Given the description of an element on the screen output the (x, y) to click on. 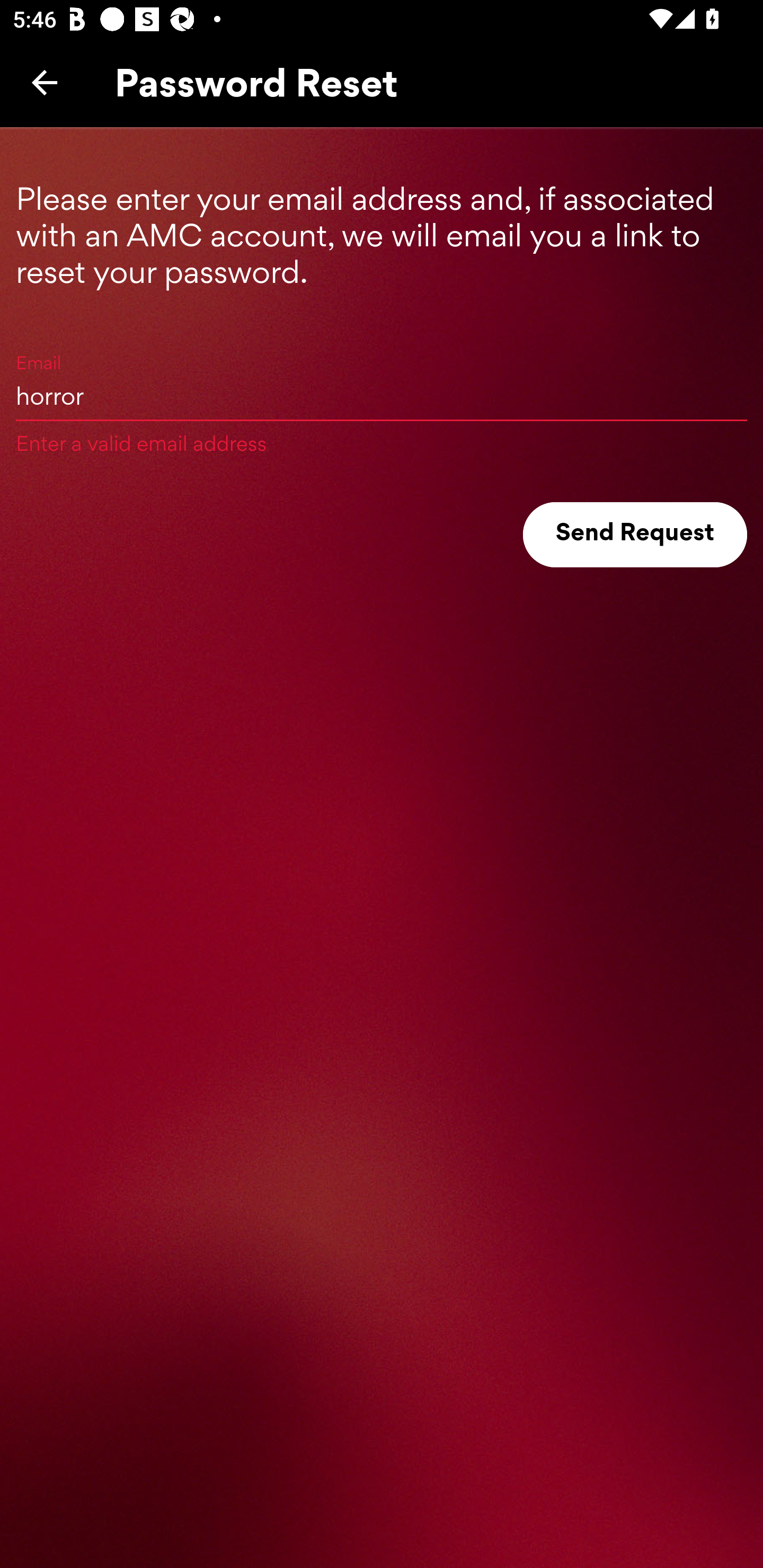
Back (44, 82)
horror Enter a valid email address (381, 394)
Send Request (634, 535)
